Given the description of an element on the screen output the (x, y) to click on. 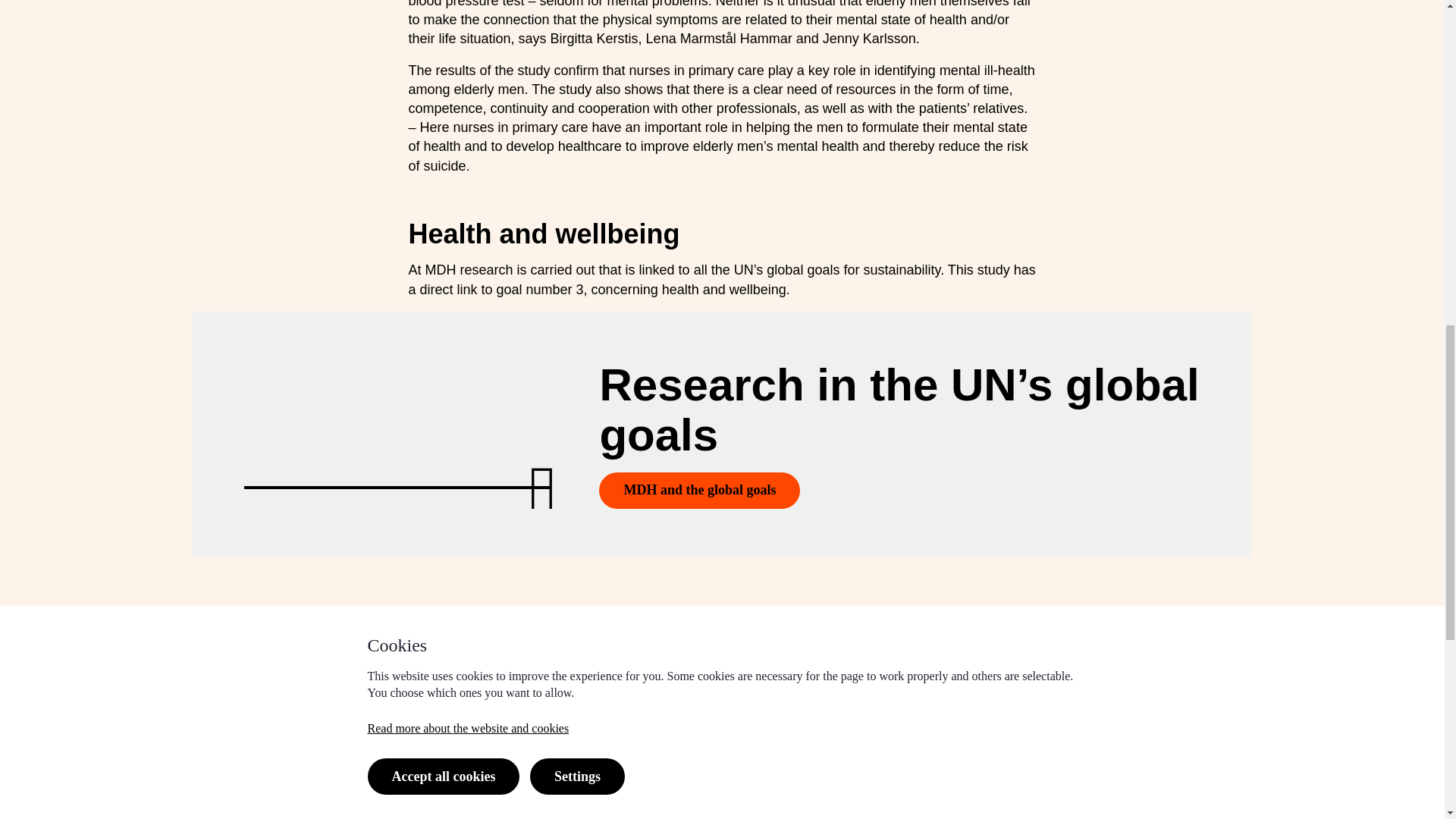
MDH and the global goals (698, 490)
